Given the description of an element on the screen output the (x, y) to click on. 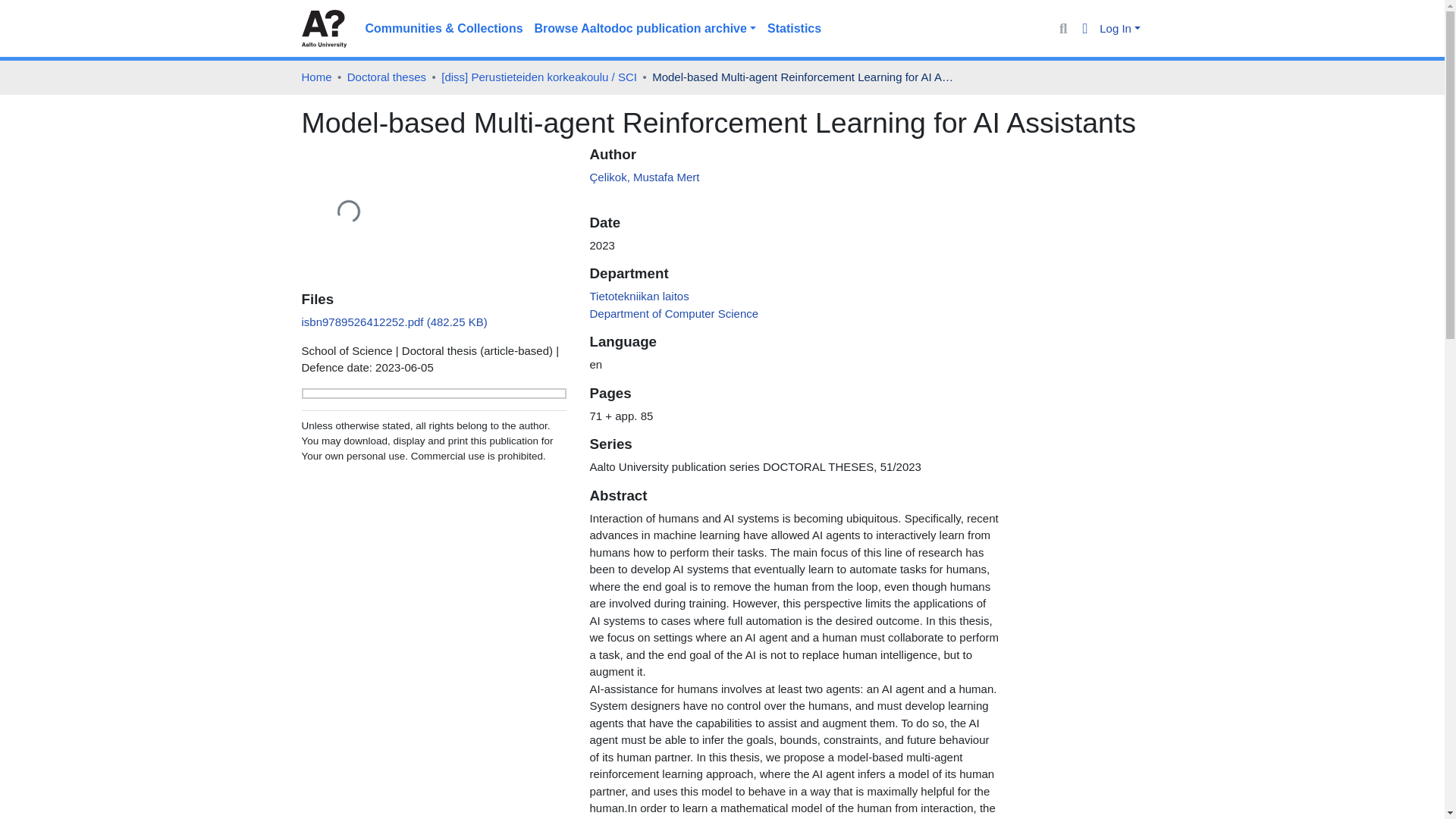
Department of Computer Science (673, 312)
Home (316, 77)
Search (1063, 28)
Statistics (794, 28)
Tietotekniikan laitos (638, 295)
Statistics (794, 28)
Doctoral theses (386, 77)
Language switch (1085, 28)
Browse Aaltodoc publication archive (644, 28)
Log In (1119, 28)
